Given the description of an element on the screen output the (x, y) to click on. 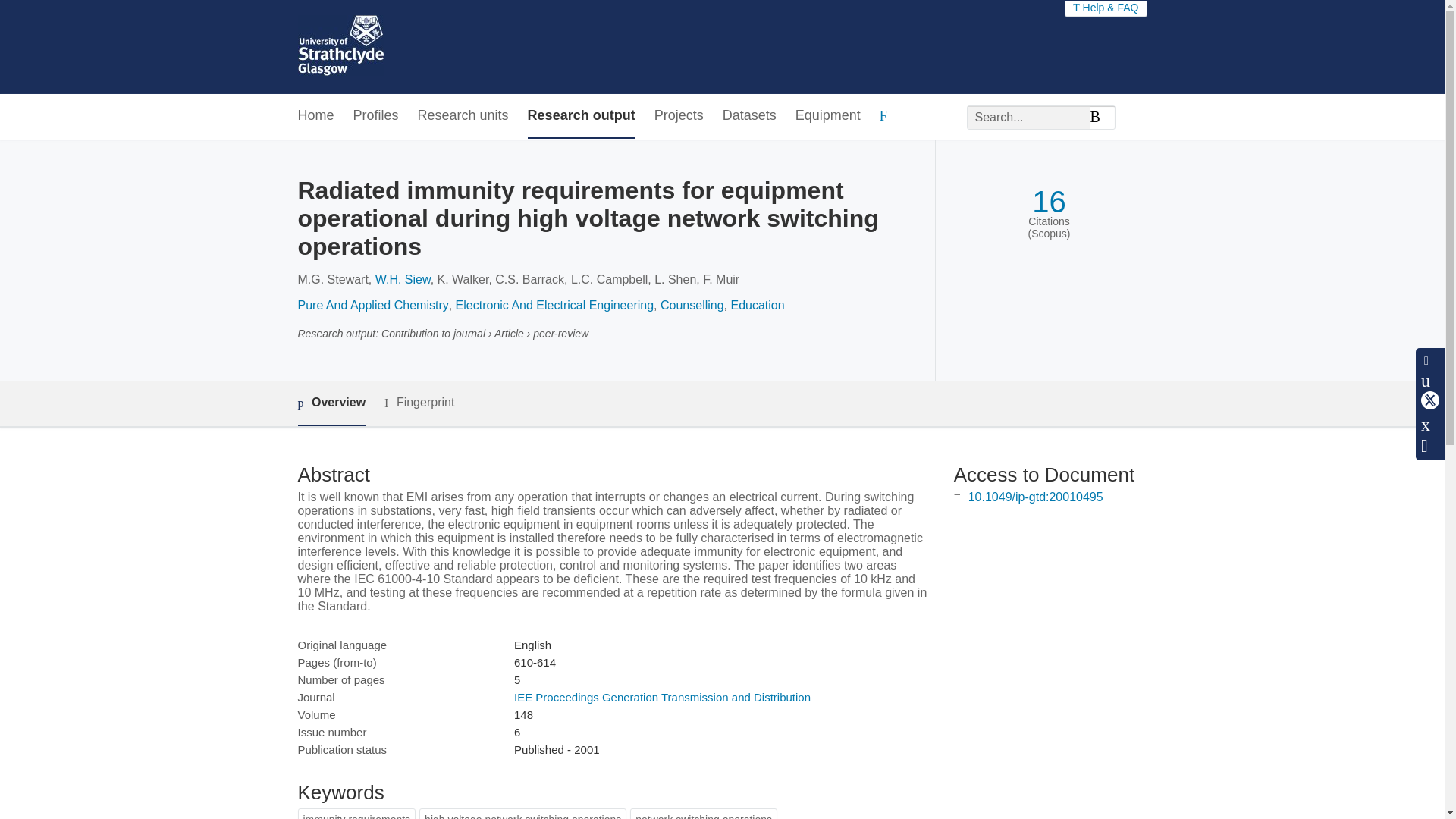
Fingerprint (419, 403)
Research units (462, 116)
Overview (331, 403)
Equipment (827, 116)
Education (757, 305)
IEE Proceedings Generation Transmission and Distribution (661, 697)
Research output (580, 116)
Profiles (375, 116)
Pure And Applied Chemistry (372, 305)
University of Strathclyde Home (339, 46)
Electronic And Electrical Engineering (554, 305)
Projects (678, 116)
16 (1048, 202)
Datasets (749, 116)
